Given the description of an element on the screen output the (x, y) to click on. 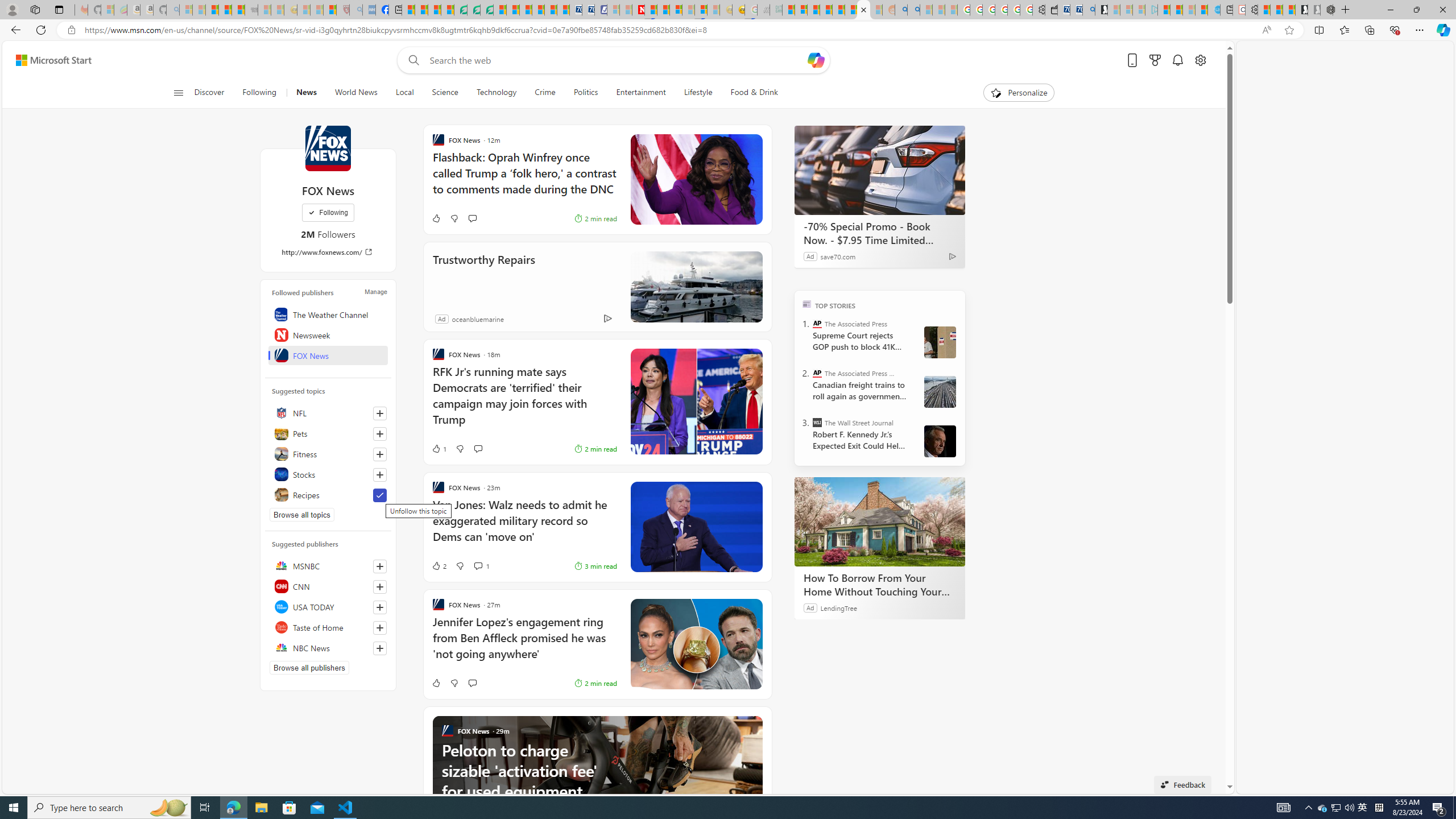
Follow this topic (379, 474)
The Weather Channel - MSN (212, 9)
LendingTree (838, 607)
